Given the description of an element on the screen output the (x, y) to click on. 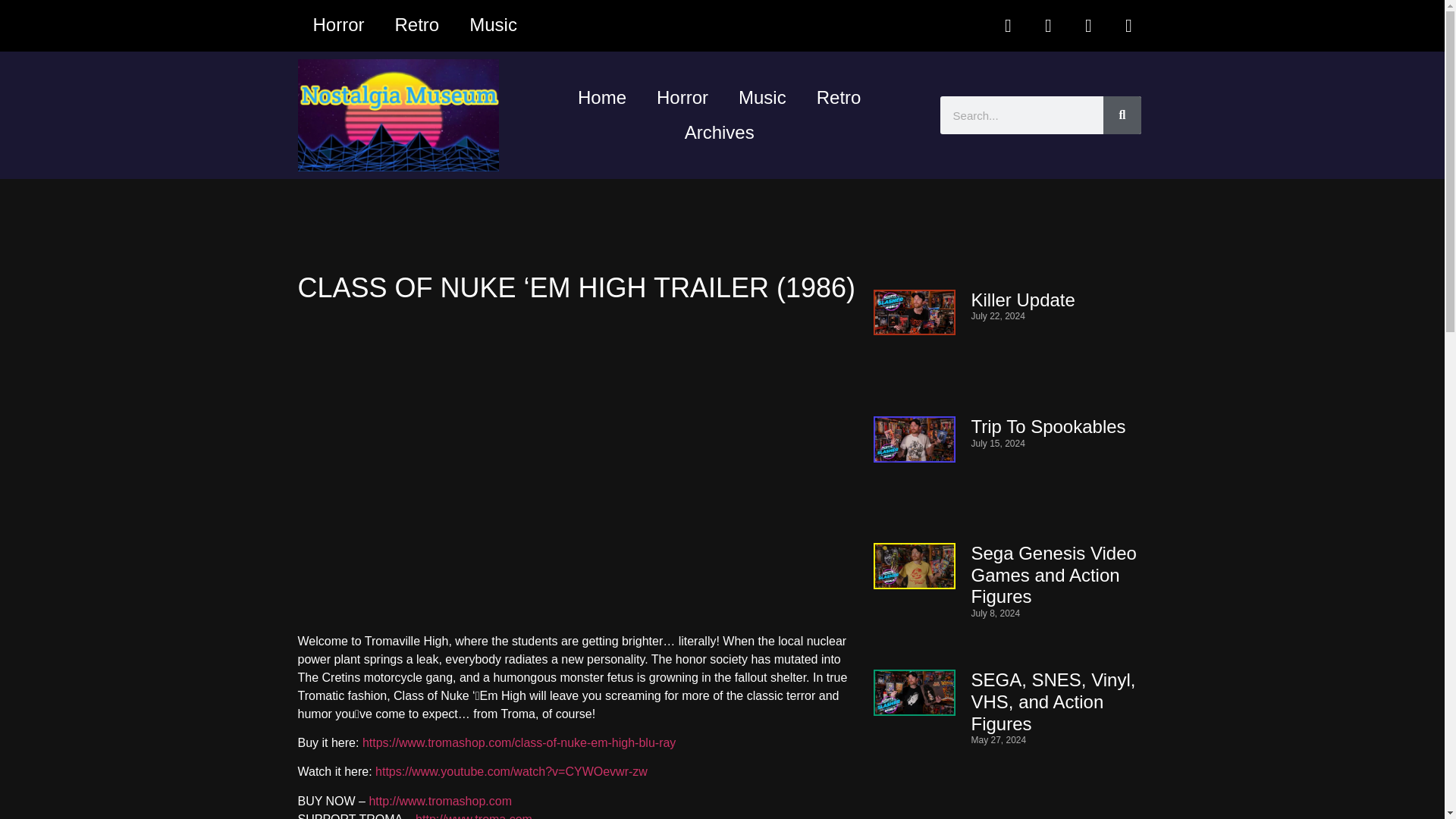
Horror (682, 97)
Retro (417, 24)
Home (602, 97)
Retro (839, 97)
Archives (719, 132)
Horror (337, 24)
Music (493, 24)
Music (762, 97)
